Given the description of an element on the screen output the (x, y) to click on. 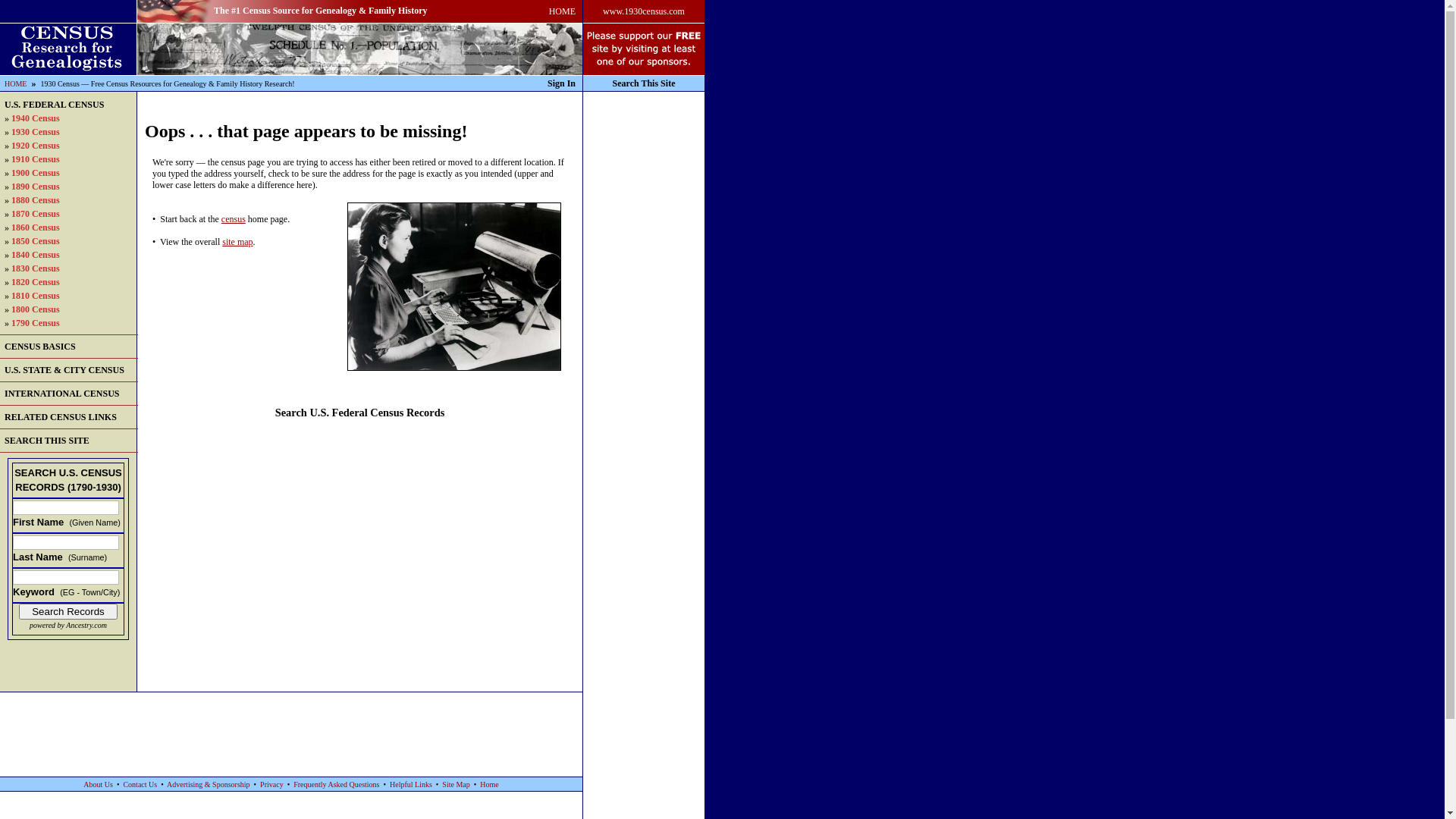
1850 Census Element type: text (35, 240)
CENSUS BASICS Element type: text (39, 346)
1860 Census Element type: text (35, 227)
1930 Census Element type: text (35, 131)
1870 Census Element type: text (35, 213)
1840 Census Element type: text (35, 254)
1920 Census Element type: text (35, 145)
Advertising & Sponsorship Element type: text (207, 783)
census Element type: text (233, 218)
Advertisement Element type: hover (643, 318)
About Us Element type: text (97, 783)
HOME Element type: text (15, 83)
Privacy Element type: text (271, 783)
1820 Census Element type: text (35, 281)
1900 Census Element type: text (35, 172)
INTERNATIONAL CENSUS Element type: text (61, 393)
1830 Census Element type: text (35, 268)
Advertisement Element type: hover (291, 726)
Frequently Asked Questions Element type: text (336, 783)
1910 Census Element type: text (35, 158)
Search This Site Element type: text (643, 83)
U.S. FEDERAL CENSUS Element type: text (53, 104)
site map Element type: text (237, 241)
Helpful Links Element type: text (410, 783)
www.1930census.com Element type: text (643, 11)
Home Element type: text (489, 783)
1880 Census Element type: text (35, 199)
SEARCH THIS SITE Element type: text (46, 440)
1800 Census Element type: text (35, 309)
U.S. STATE & CITY CENSUS Element type: text (64, 369)
Sign In Element type: text (561, 83)
1790 Census Element type: text (35, 322)
1940 Census Element type: text (35, 117)
Search Records Element type: text (67, 611)
HOME Element type: text (562, 11)
Site Map Element type: text (455, 783)
1890 Census Element type: text (35, 186)
Contact Us Element type: text (139, 783)
RELATED CENSUS LINKS Element type: text (60, 416)
1810 Census Element type: text (35, 295)
